Given the description of an element on the screen output the (x, y) to click on. 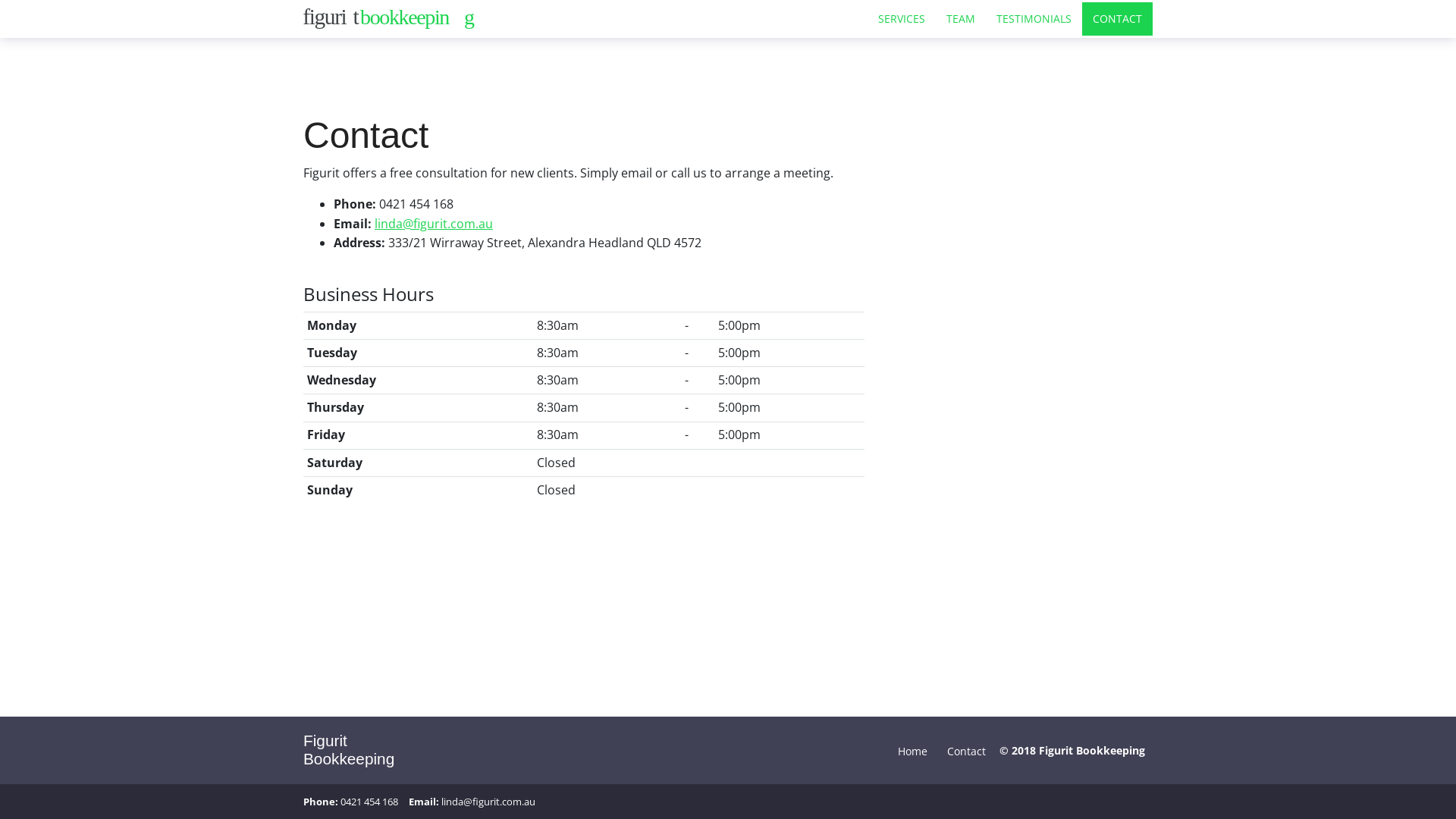
linda@figurit.com.au Element type: text (433, 223)
linda@figurit.com.au Element type: text (488, 801)
Home Element type: text (912, 749)
Contact Element type: text (966, 749)
TEAM Element type: text (960, 18)
TESTIMONIALS Element type: text (1033, 18)
SERVICES Element type: text (901, 18)
CONTACT Element type: text (1117, 18)
